Given the description of an element on the screen output the (x, y) to click on. 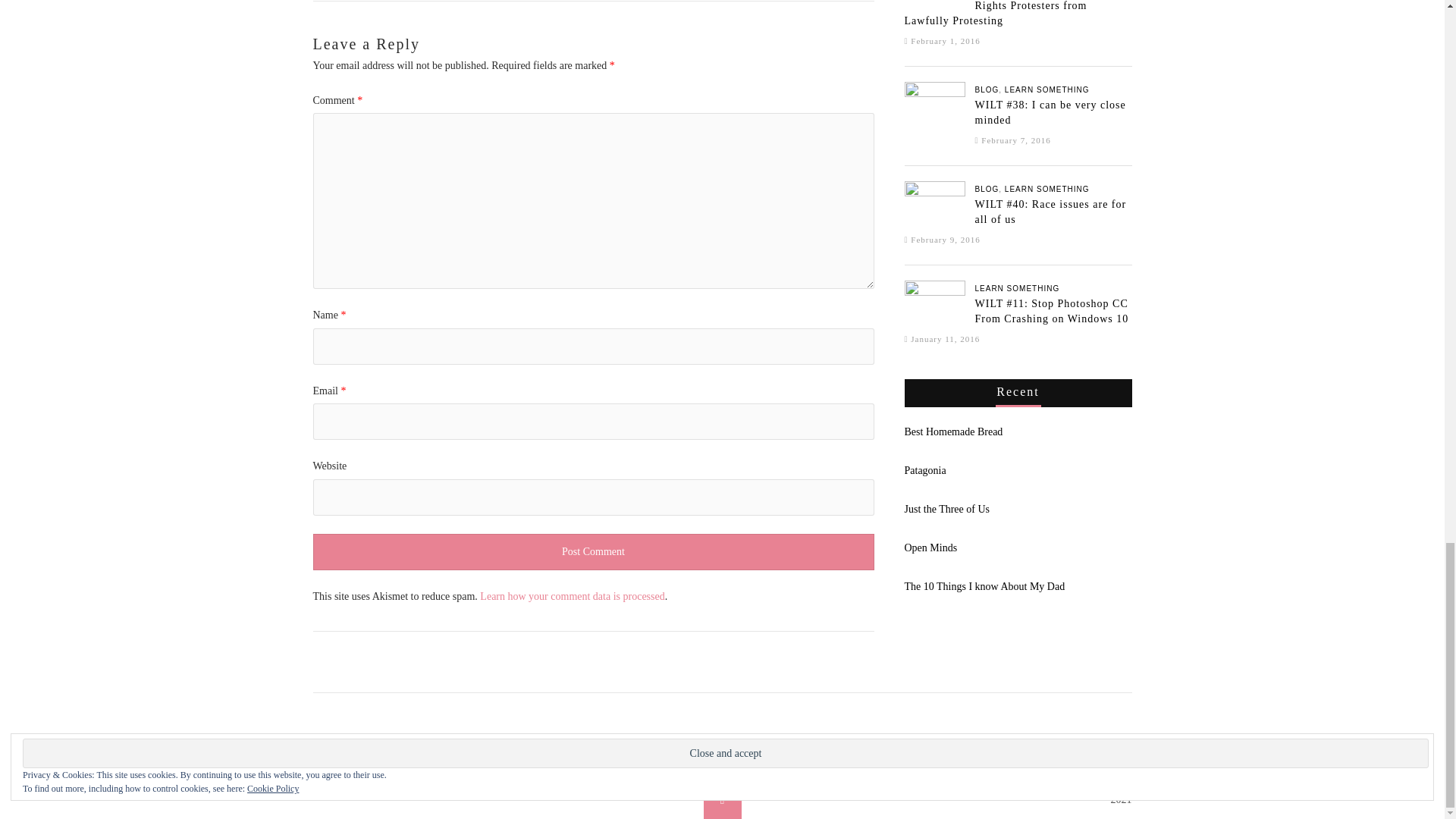
Post Comment (593, 551)
Post Comment (593, 551)
Learn how your comment data is processed (571, 595)
